Given the description of an element on the screen output the (x, y) to click on. 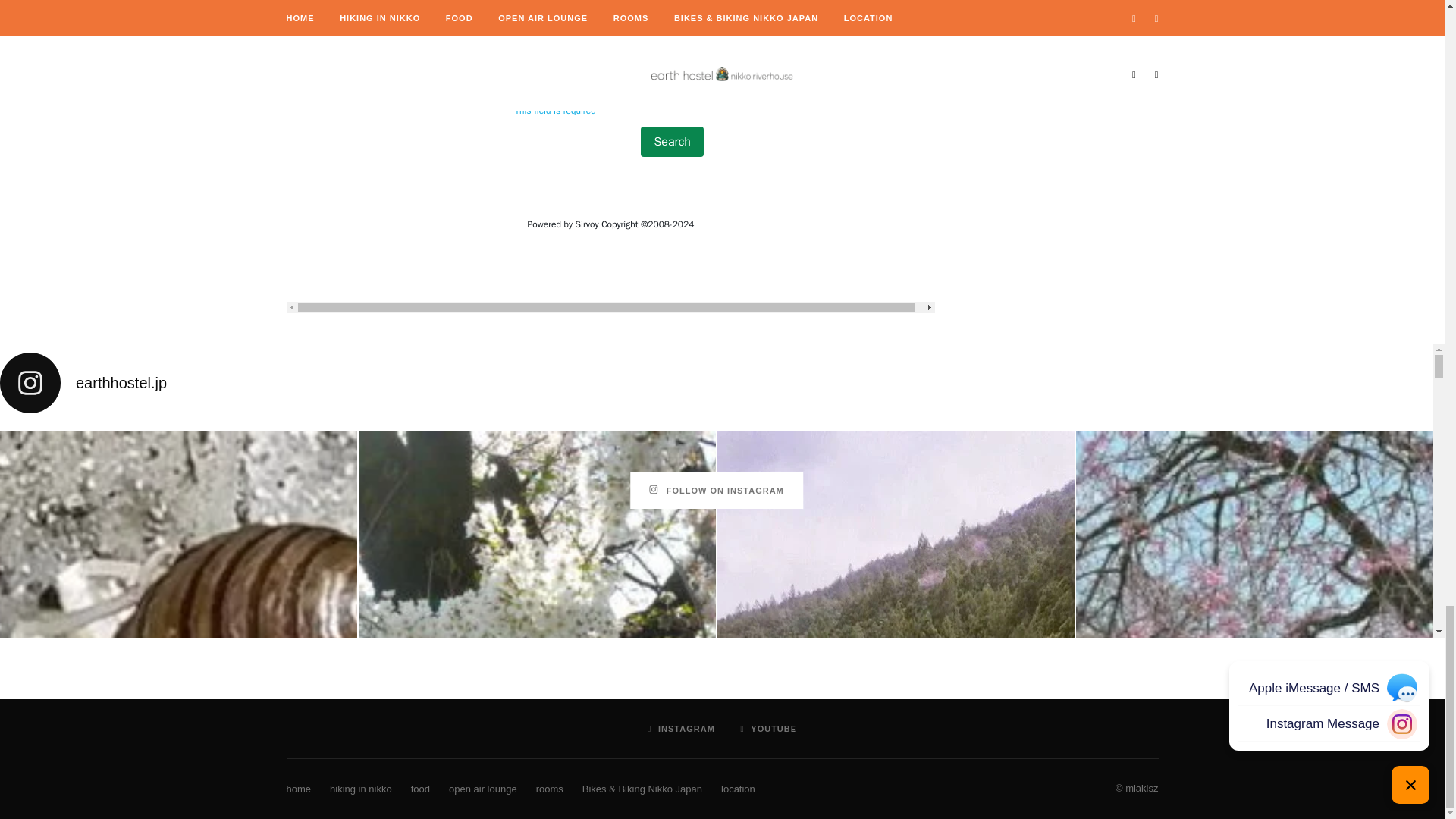
earthhostel.jp (716, 382)
